Given the description of an element on the screen output the (x, y) to click on. 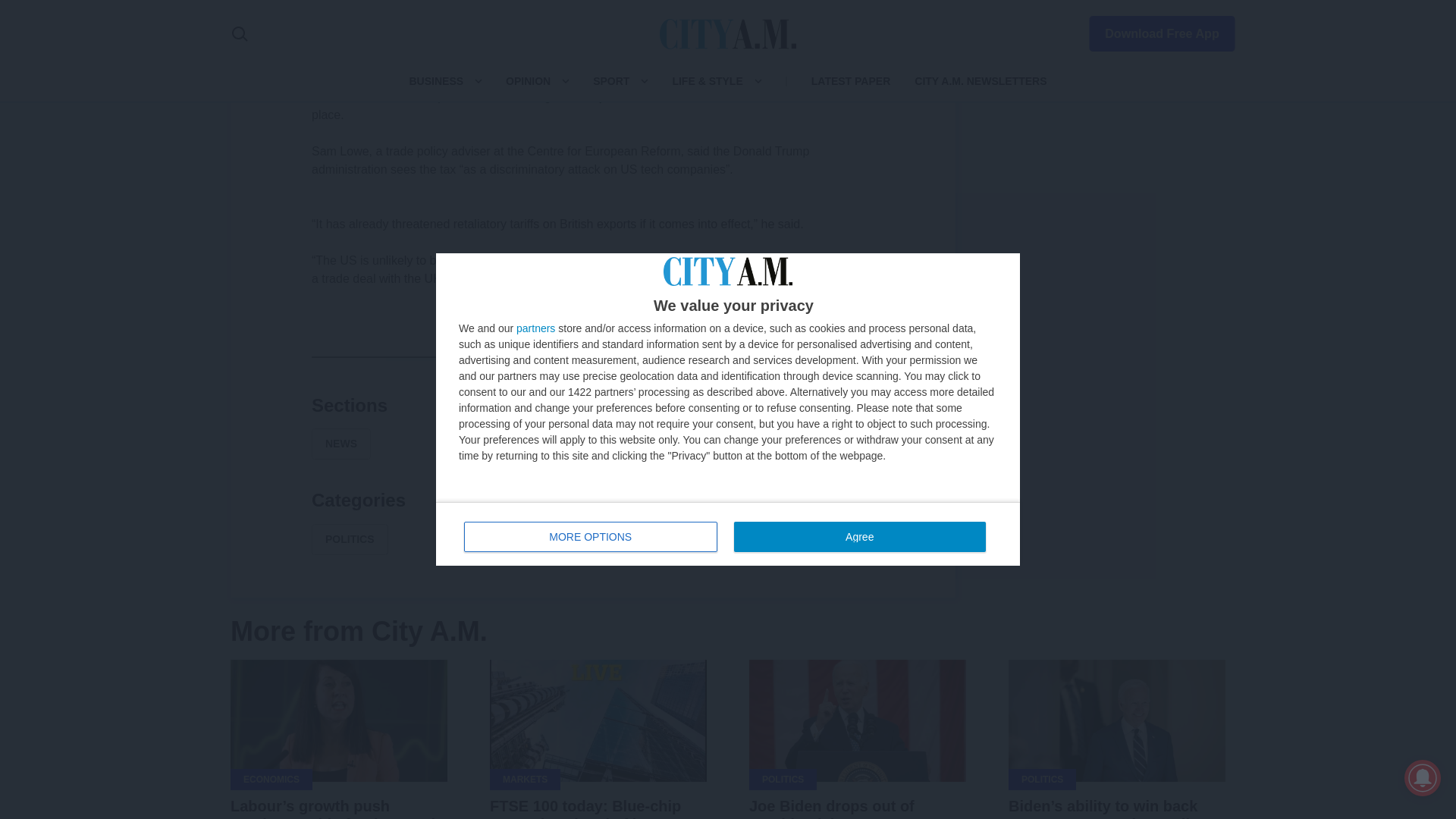
LinkedIn (592, 355)
WhatsApp (629, 355)
Email (665, 355)
X (556, 355)
Facebook (520, 355)
